Given the description of an element on the screen output the (x, y) to click on. 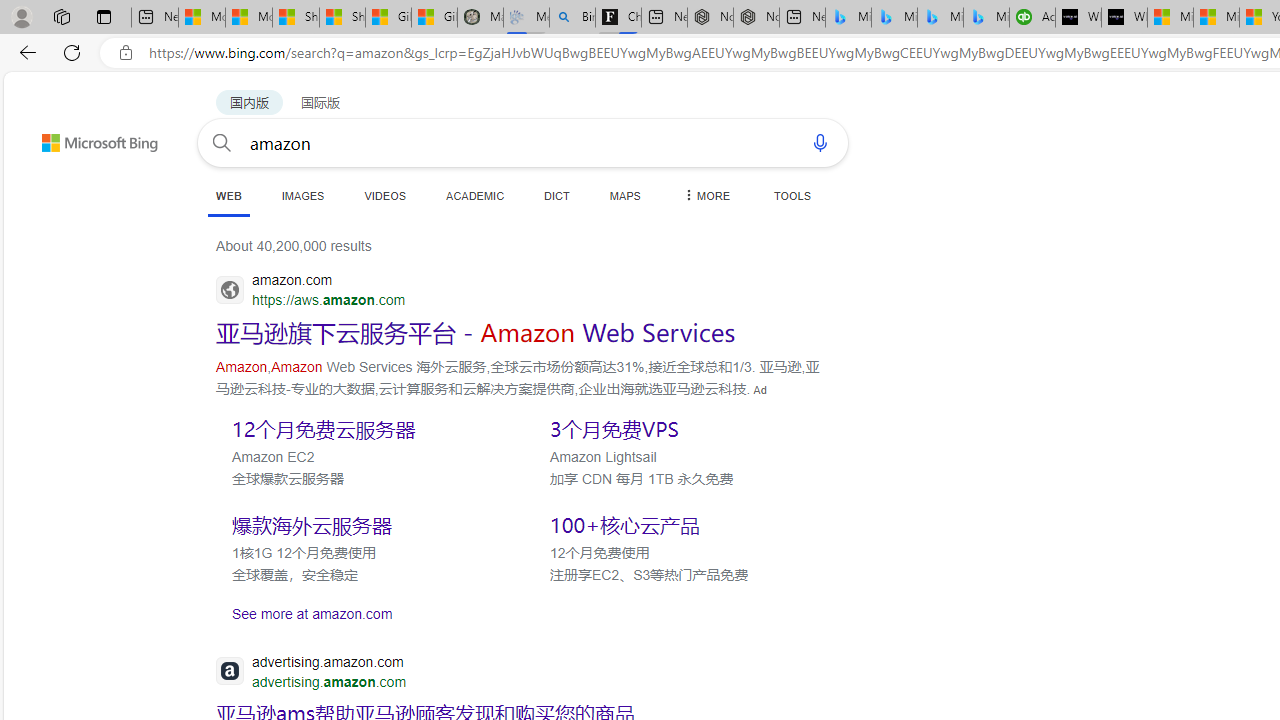
Gilma and Hector both pose tropical trouble for Hawaii (434, 17)
ACADEMIC (475, 195)
Search using voice (820, 142)
See more at amazon.com (520, 613)
WEB (228, 195)
IMAGES (302, 195)
Nordace - #1 Japanese Best-Seller - Siena Smart Backpack (756, 17)
SERP,5553 (683, 525)
MORE (705, 195)
IMAGES (302, 195)
